Given the description of an element on the screen output the (x, y) to click on. 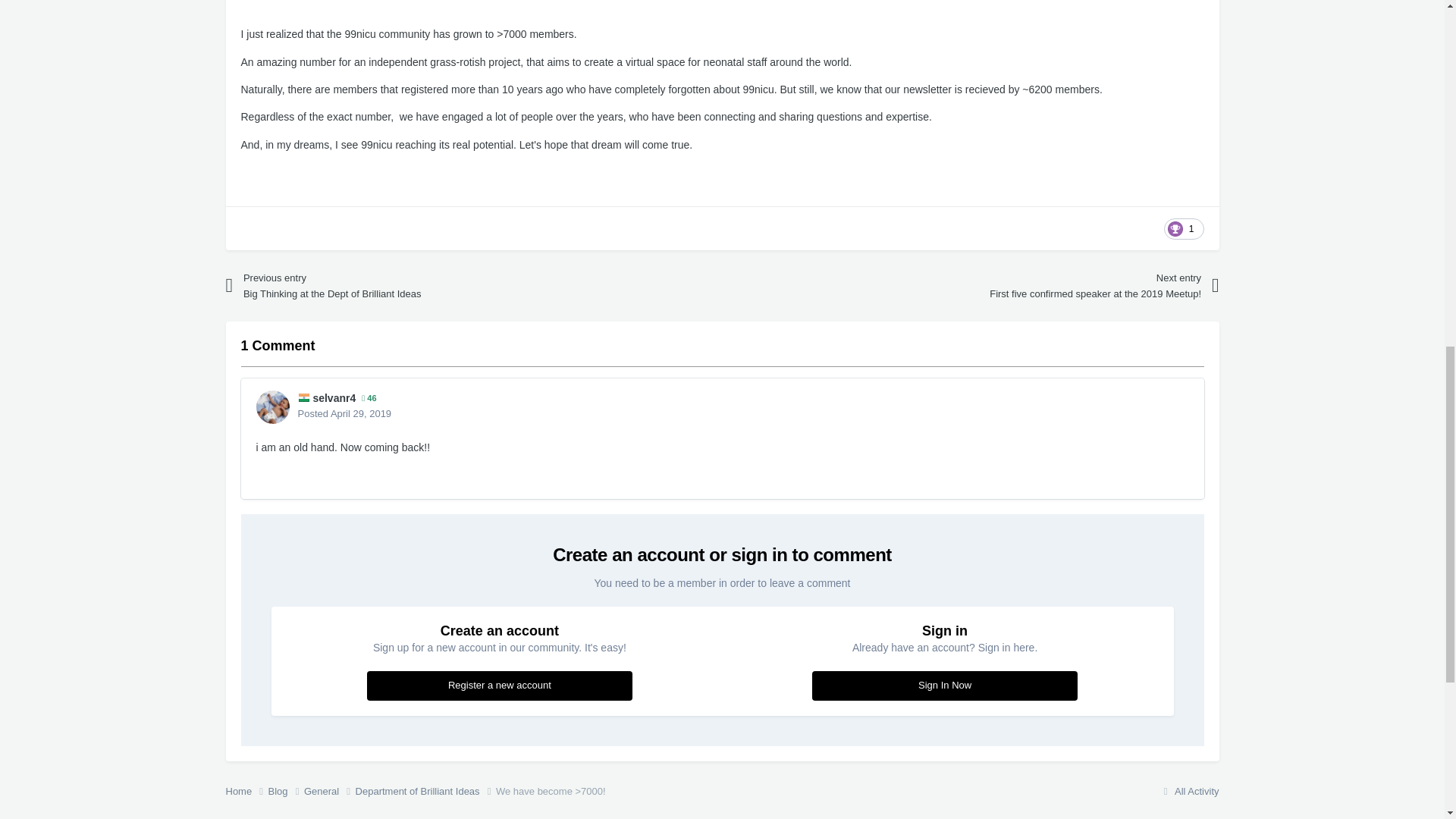
Thanks (1183, 229)
